Given the description of an element on the screen output the (x, y) to click on. 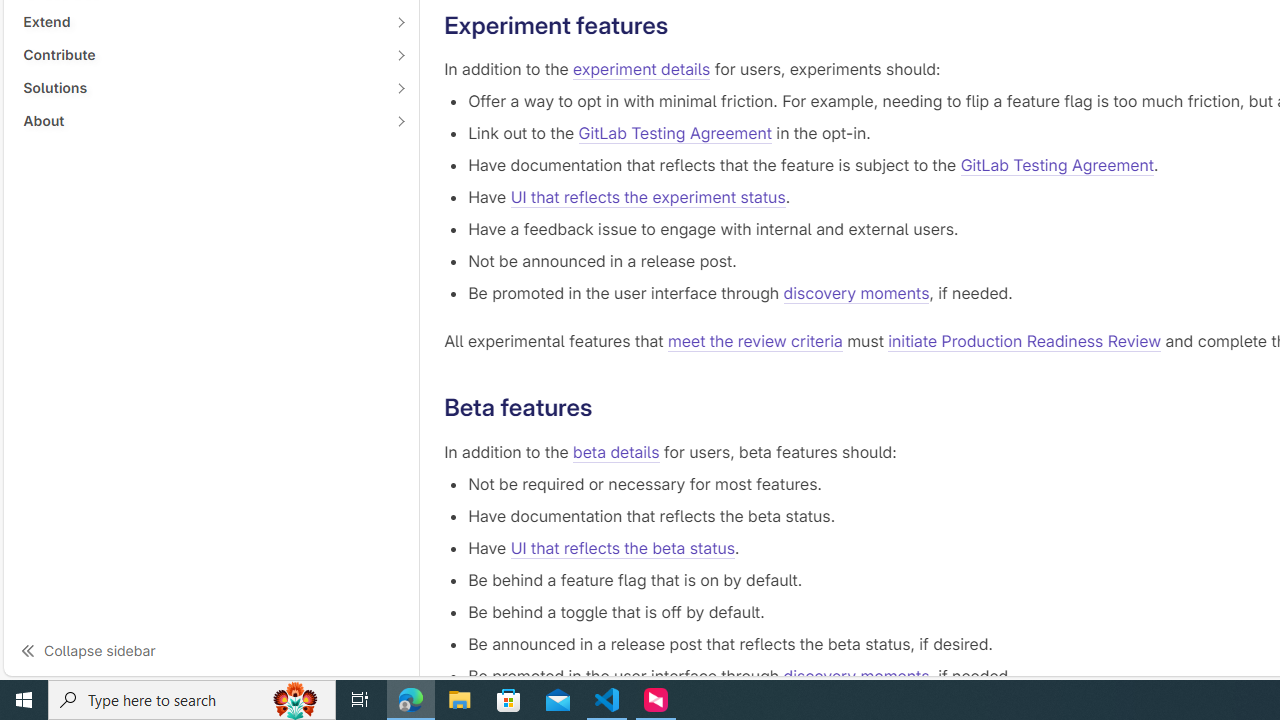
meet the review criteria (754, 341)
Solutions (199, 87)
Extend (199, 21)
discovery moments (856, 675)
GitLab Testing Agreement (1057, 165)
UI that reflects the experiment status (647, 197)
experiment details (641, 69)
Collapse sidebar (211, 650)
UI that reflects the beta status (621, 547)
beta details (616, 451)
initiate Production Readiness Review (1025, 341)
Contribute (199, 54)
Permalink (608, 408)
